Given the description of an element on the screen output the (x, y) to click on. 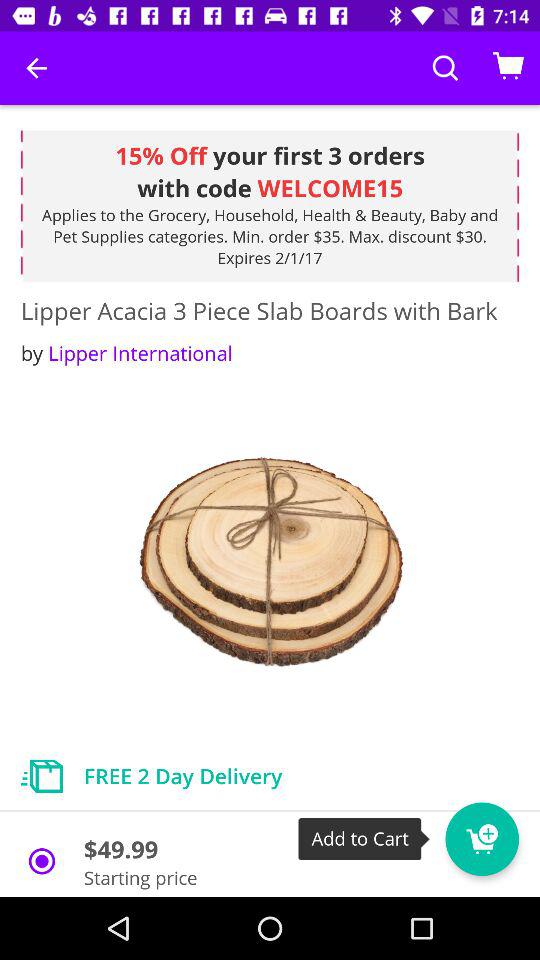
press the icon at the top left corner (36, 68)
